Given the description of an element on the screen output the (x, y) to click on. 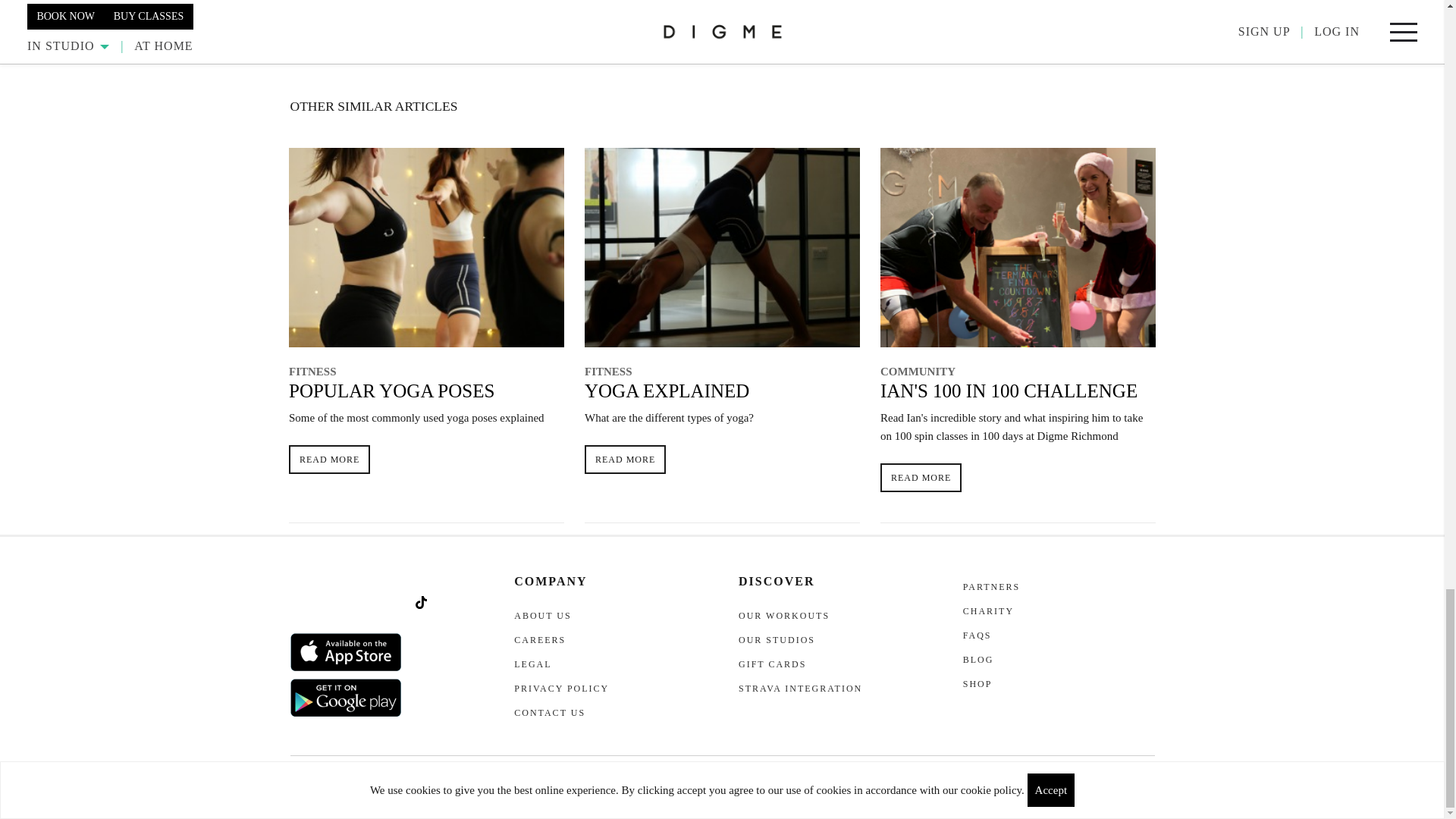
Download Android App (345, 697)
Popular Yoga Poses (426, 247)
POPULAR YOGA POSES (391, 390)
FITNESS (312, 371)
Download iOS App (345, 651)
Yoga Explained (722, 247)
Ian's 100 in 100 challenge (1018, 247)
READ MORE (328, 459)
